Given the description of an element on the screen output the (x, y) to click on. 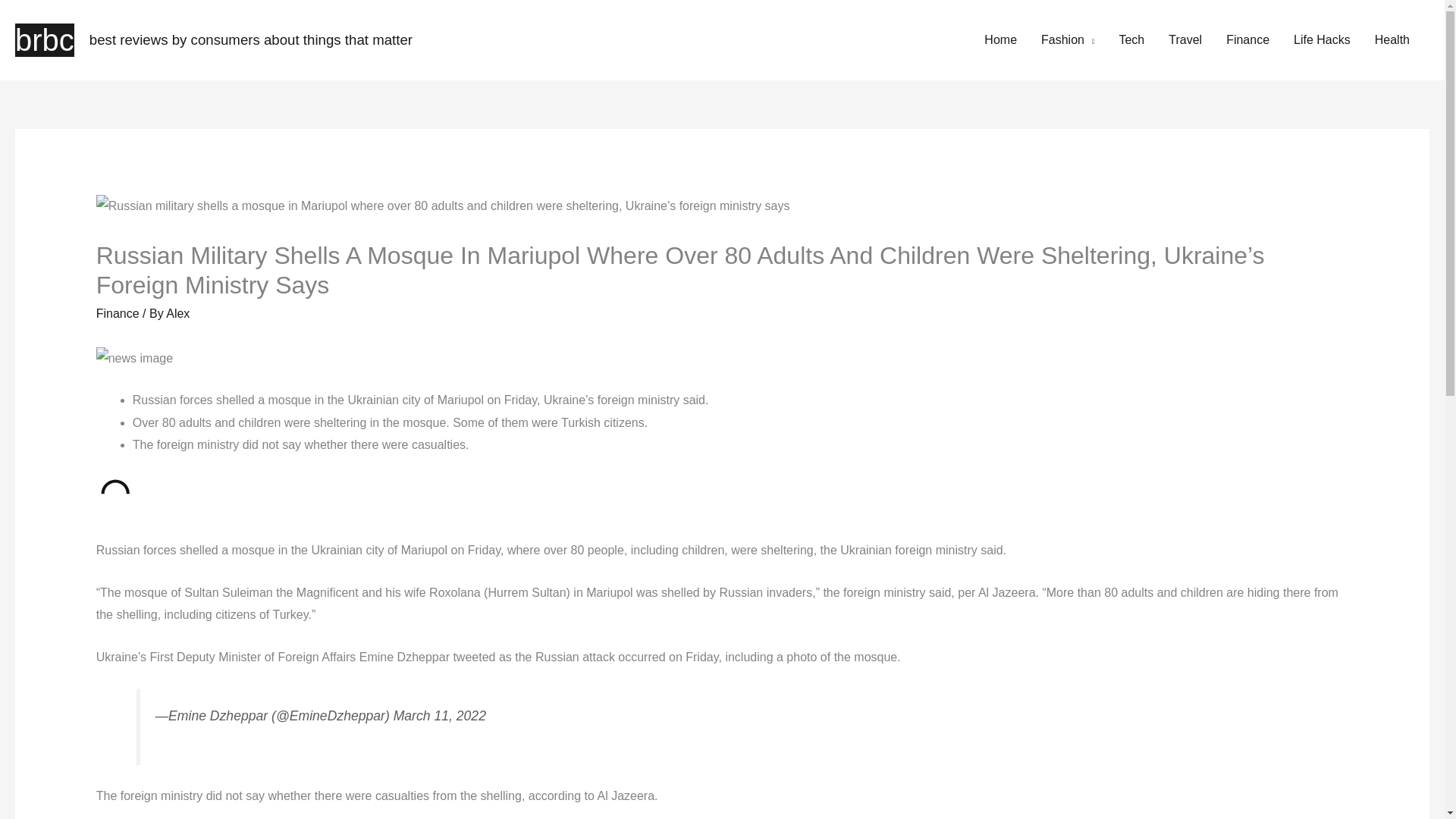
Life Hacks (1321, 39)
Health (1392, 39)
Tech (1131, 39)
LoadingSomething is loading. (114, 493)
Home (1000, 39)
Travel (1185, 39)
Finance (1247, 39)
Finance (117, 312)
Alex (177, 312)
View all posts by Alex (177, 312)
